Given the description of an element on the screen output the (x, y) to click on. 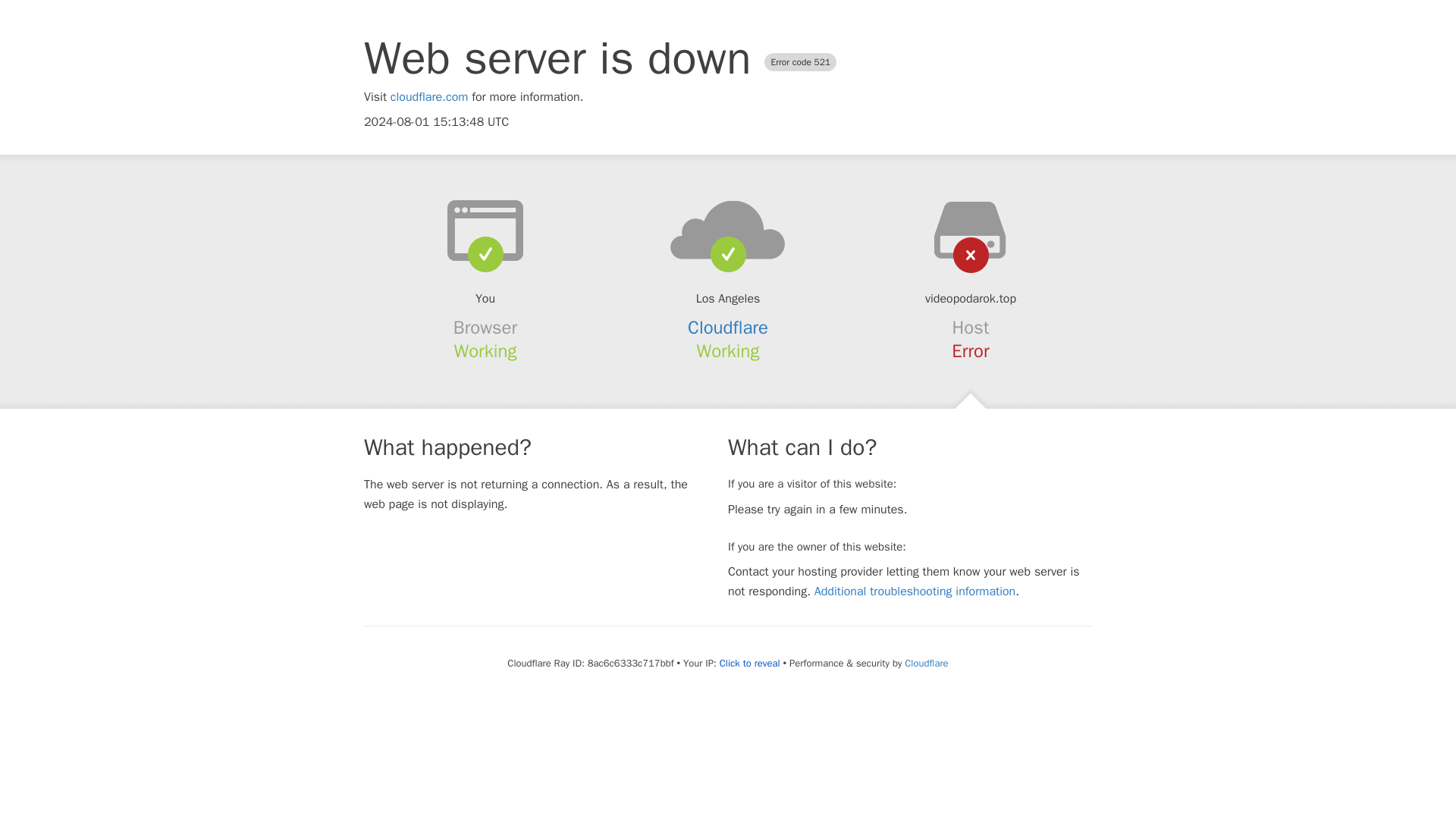
Additional troubleshooting information (913, 590)
Click to reveal (749, 663)
cloudflare.com (429, 96)
Cloudflare (925, 662)
Cloudflare (727, 327)
